Given the description of an element on the screen output the (x, y) to click on. 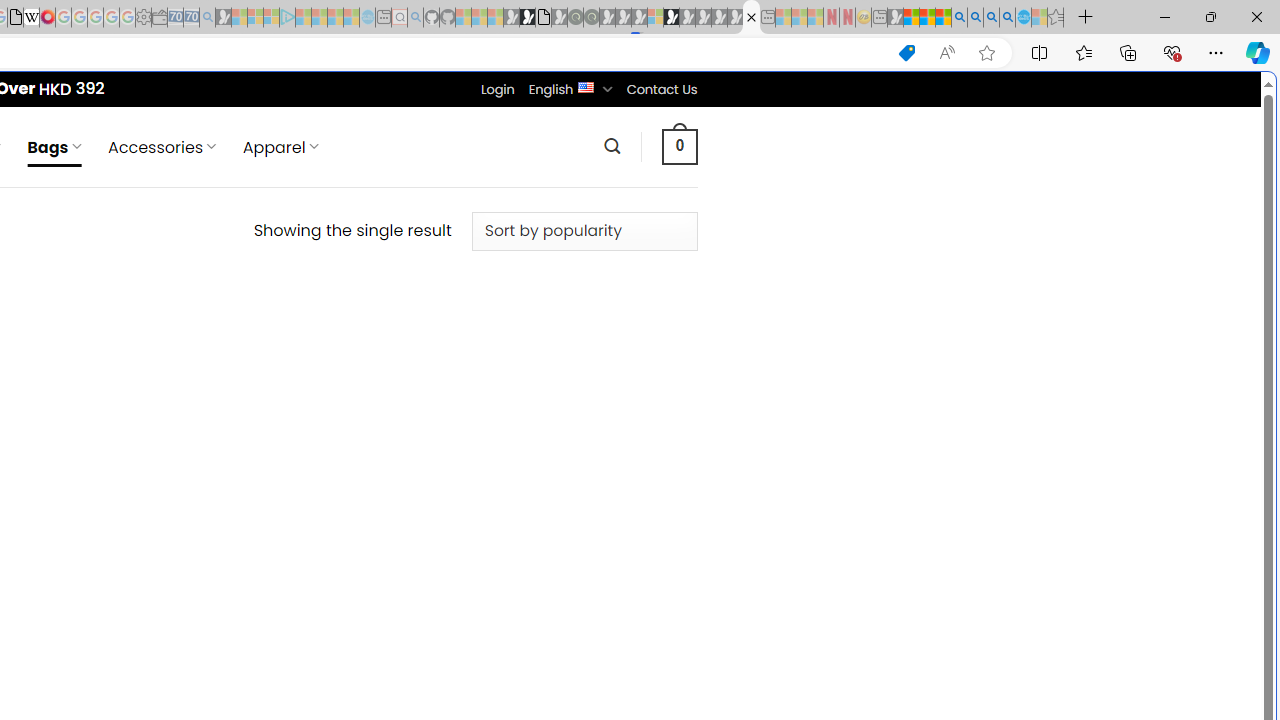
Shop order (584, 231)
